Given the description of an element on the screen output the (x, y) to click on. 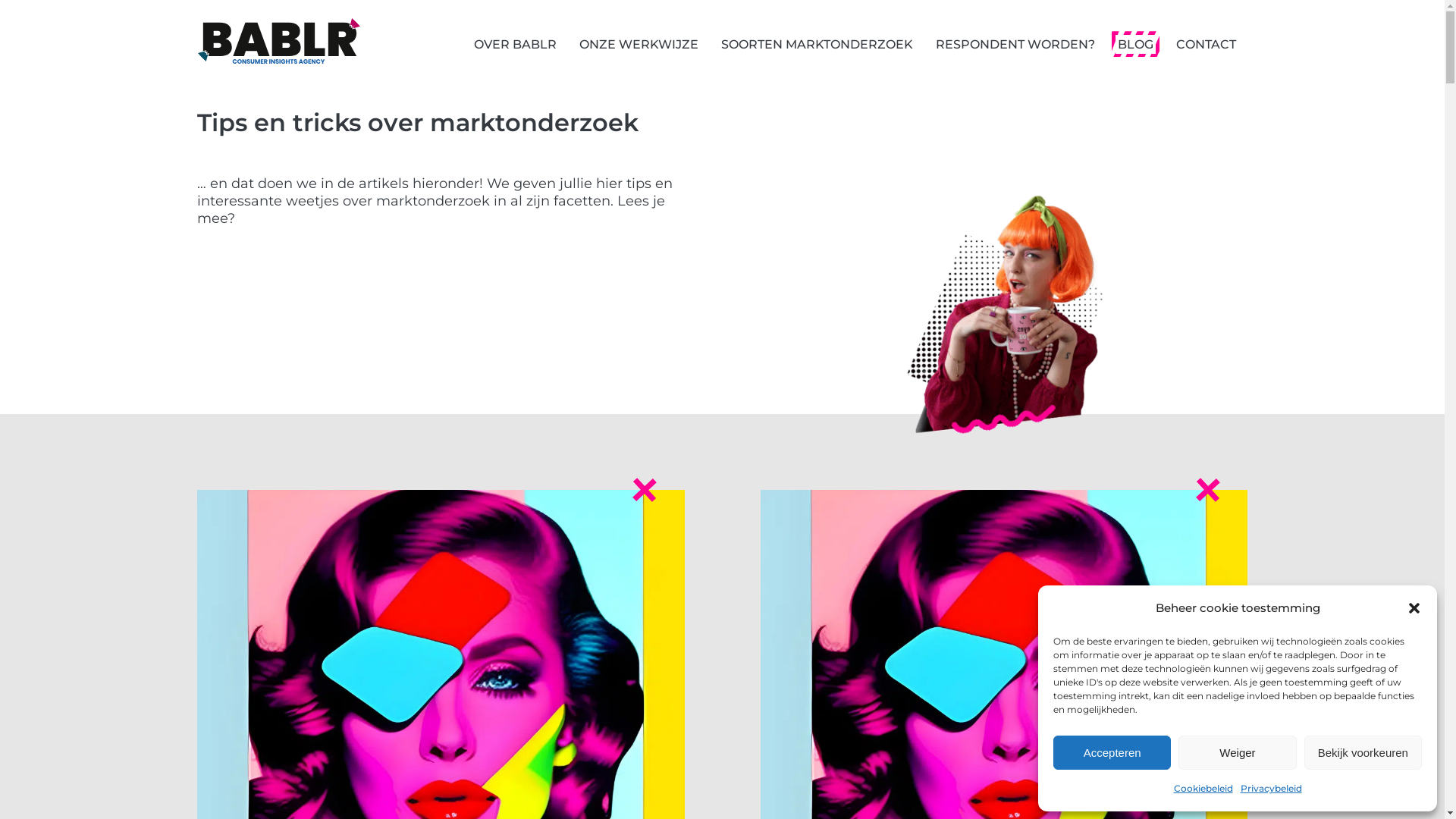
Bekijk voorkeuren Element type: text (1362, 752)
BLOG Element type: text (1135, 43)
CONTACT Element type: text (1205, 43)
SOORTEN MARKTONDERZOEK Element type: text (816, 43)
Weiger Element type: text (1236, 752)
Accepteren Element type: text (1111, 752)
Privacybeleid Element type: text (1271, 788)
Cookiebeleid Element type: text (1203, 788)
OVER BABLR Element type: text (514, 43)
ONZE WERKWIJZE Element type: text (638, 43)
RESPONDENT WORDEN? Element type: text (1015, 43)
